Given the description of an element on the screen output the (x, y) to click on. 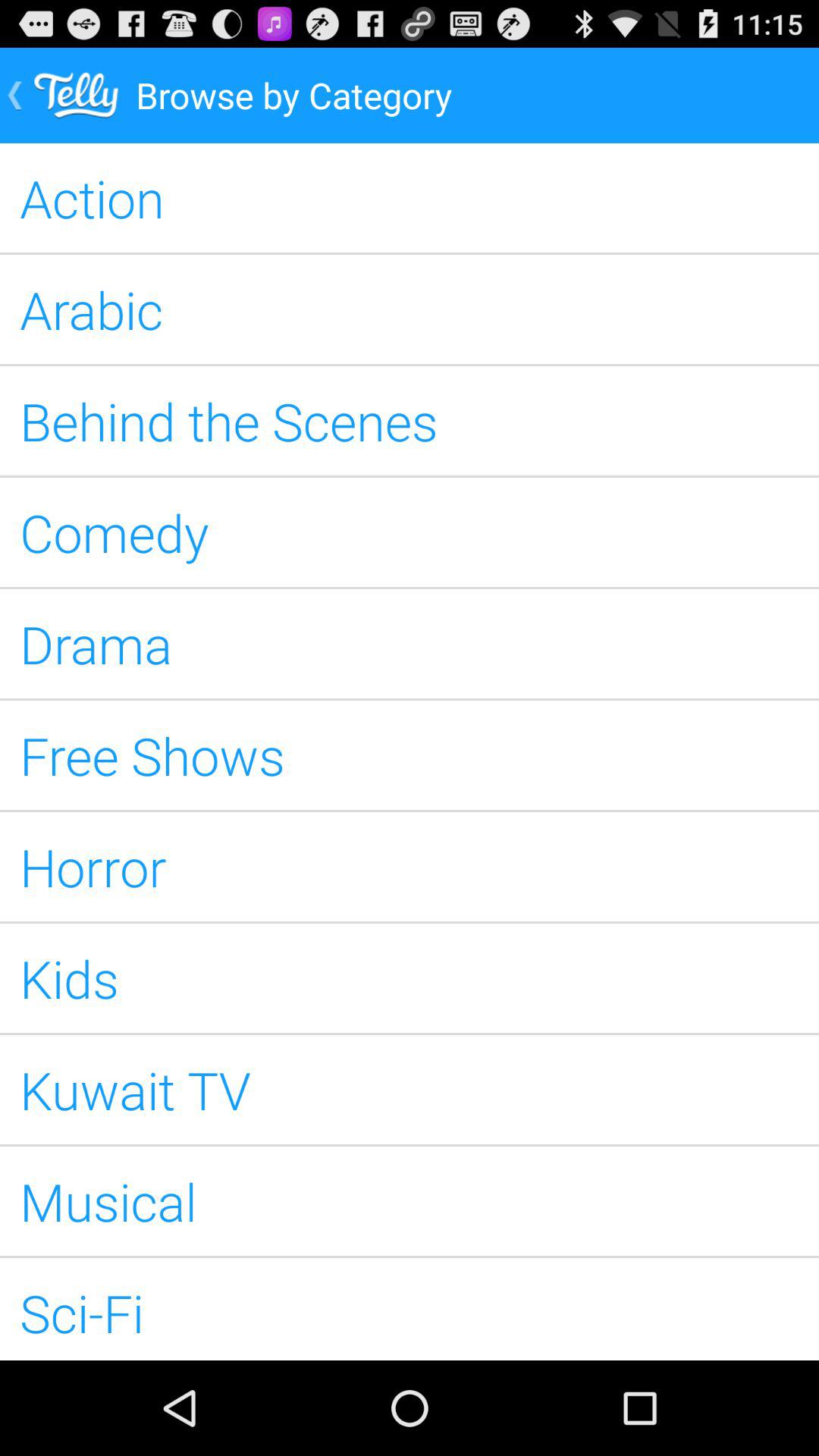
click the kids item (409, 977)
